Given the description of an element on the screen output the (x, y) to click on. 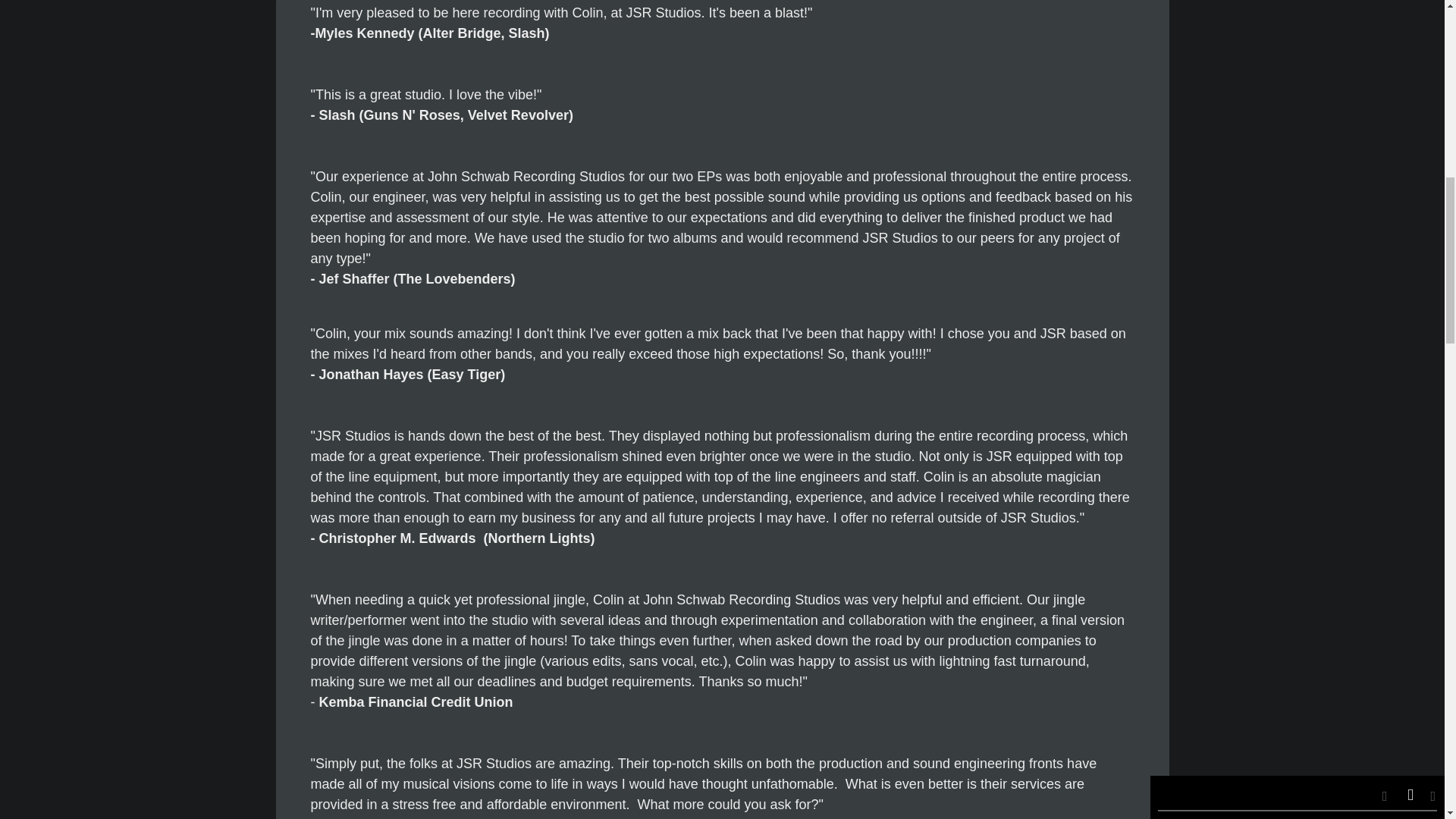
On Fire (1199, 181)
Full Moon Fire (1215, 108)
Full Moon Fire (1215, 108)
Only After Dark (1217, 72)
Only After Dark (1217, 72)
